Given the description of an element on the screen output the (x, y) to click on. 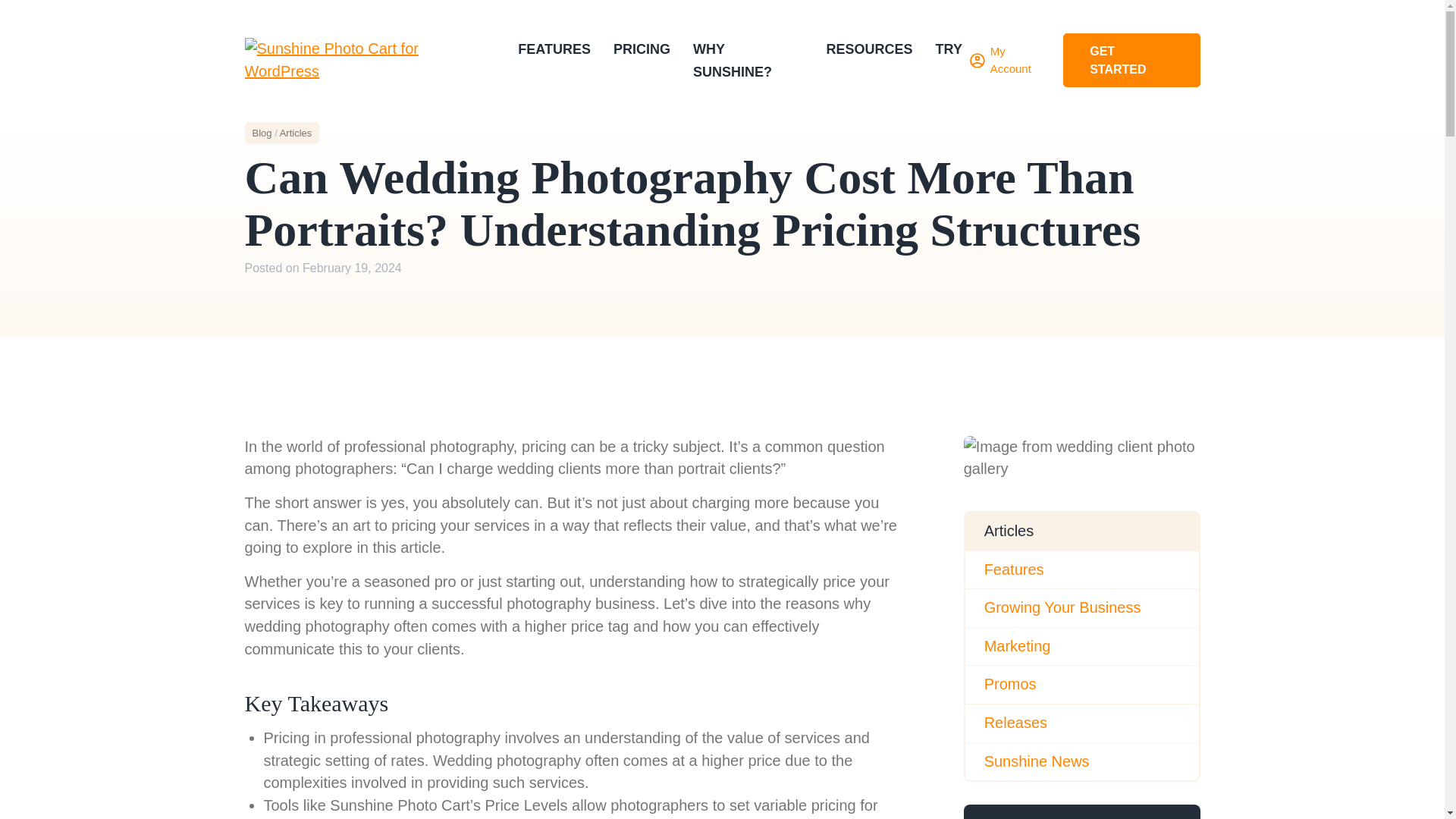
Blog (260, 132)
Marketing (1081, 646)
PRICING (640, 48)
TRY (949, 48)
WHY SUNSHINE? (732, 60)
Promos (1081, 684)
Sunshine News (1081, 761)
Articles (1081, 531)
Growing Your Business (1081, 607)
Releases (1081, 723)
Articles (296, 132)
RESOURCES (869, 48)
Features (1081, 569)
My Account (1008, 59)
FEATURES (554, 48)
